Given the description of an element on the screen output the (x, y) to click on. 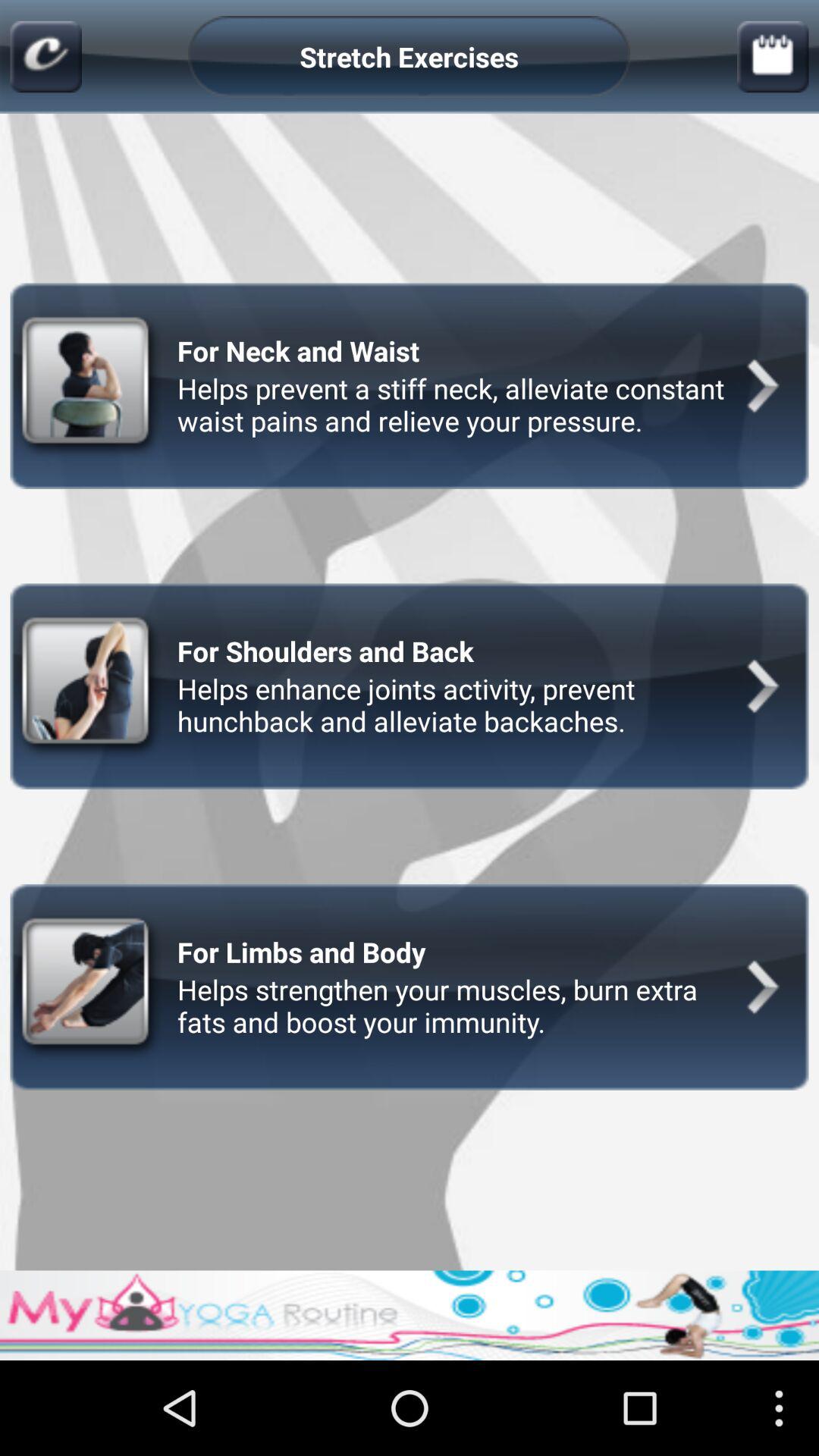
click on the third image of the page (89, 986)
click on the button at top right corner (773, 57)
click on the first image at the left side of the page (89, 385)
click on the third next button at the right side of the page (763, 986)
